Given the description of an element on the screen output the (x, y) to click on. 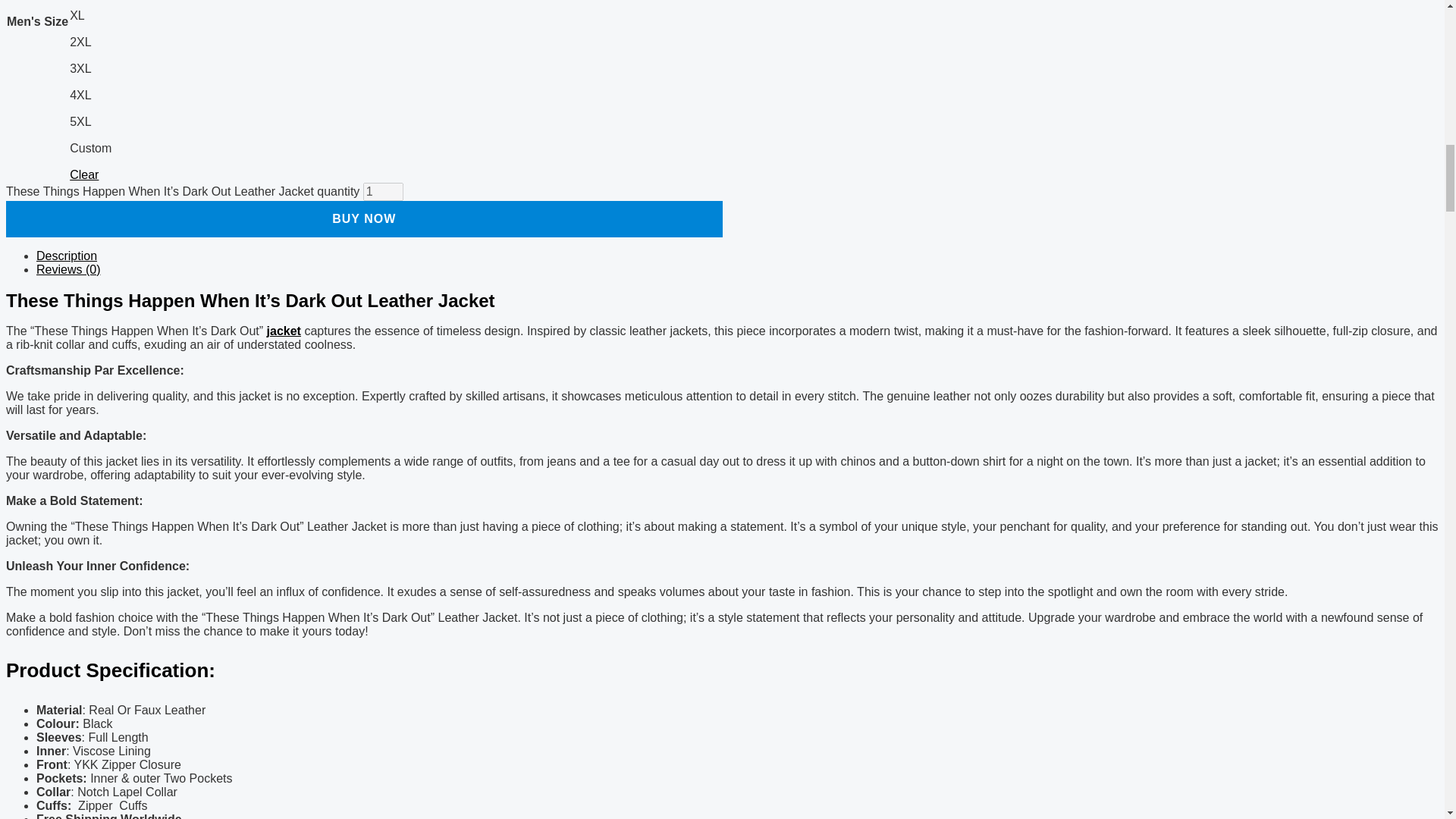
1 (382, 191)
